Given the description of an element on the screen output the (x, y) to click on. 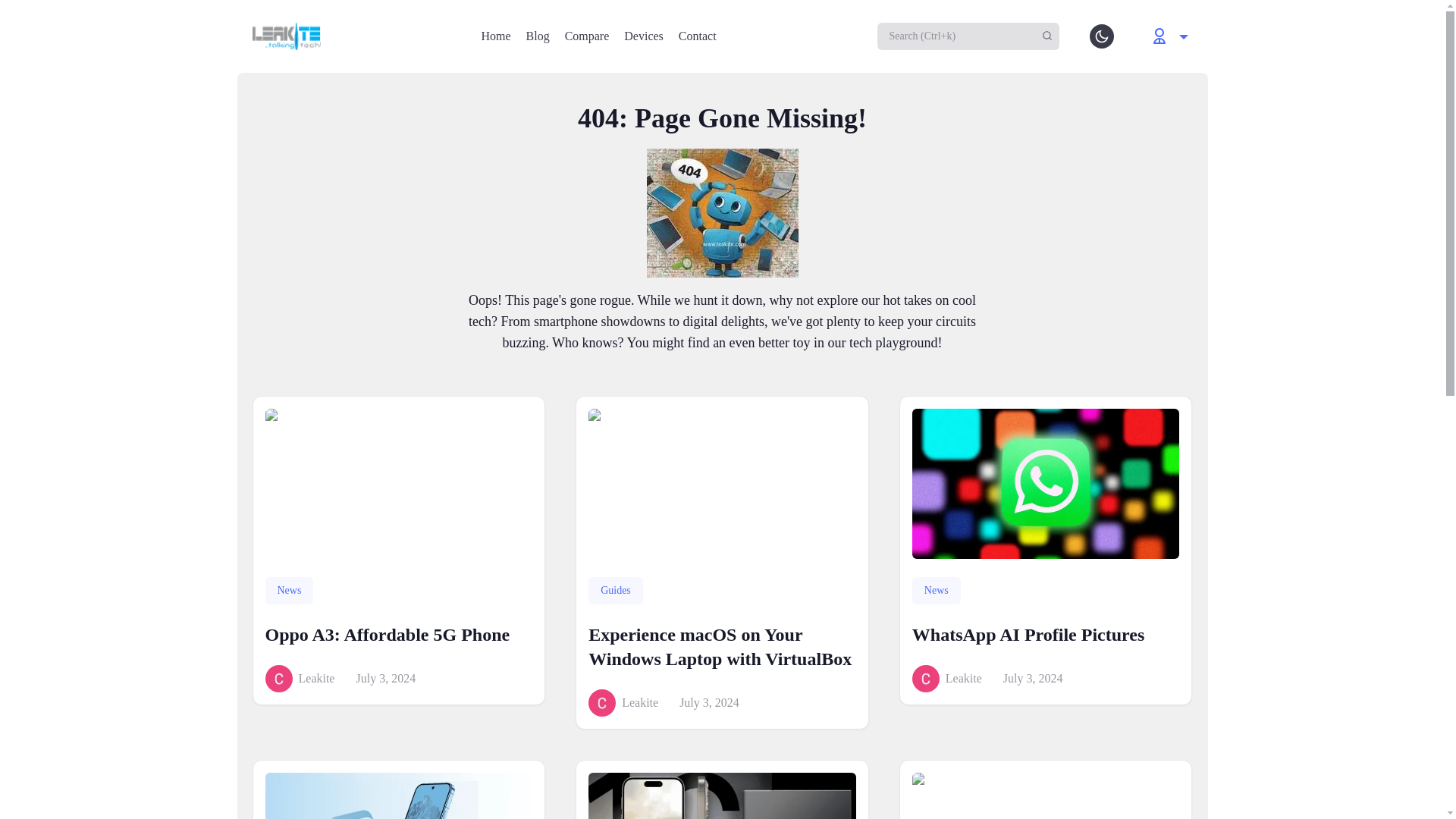
Blog (537, 35)
Compare (587, 35)
Devices (643, 35)
Home (495, 35)
Contact (697, 35)
